Given the description of an element on the screen output the (x, y) to click on. 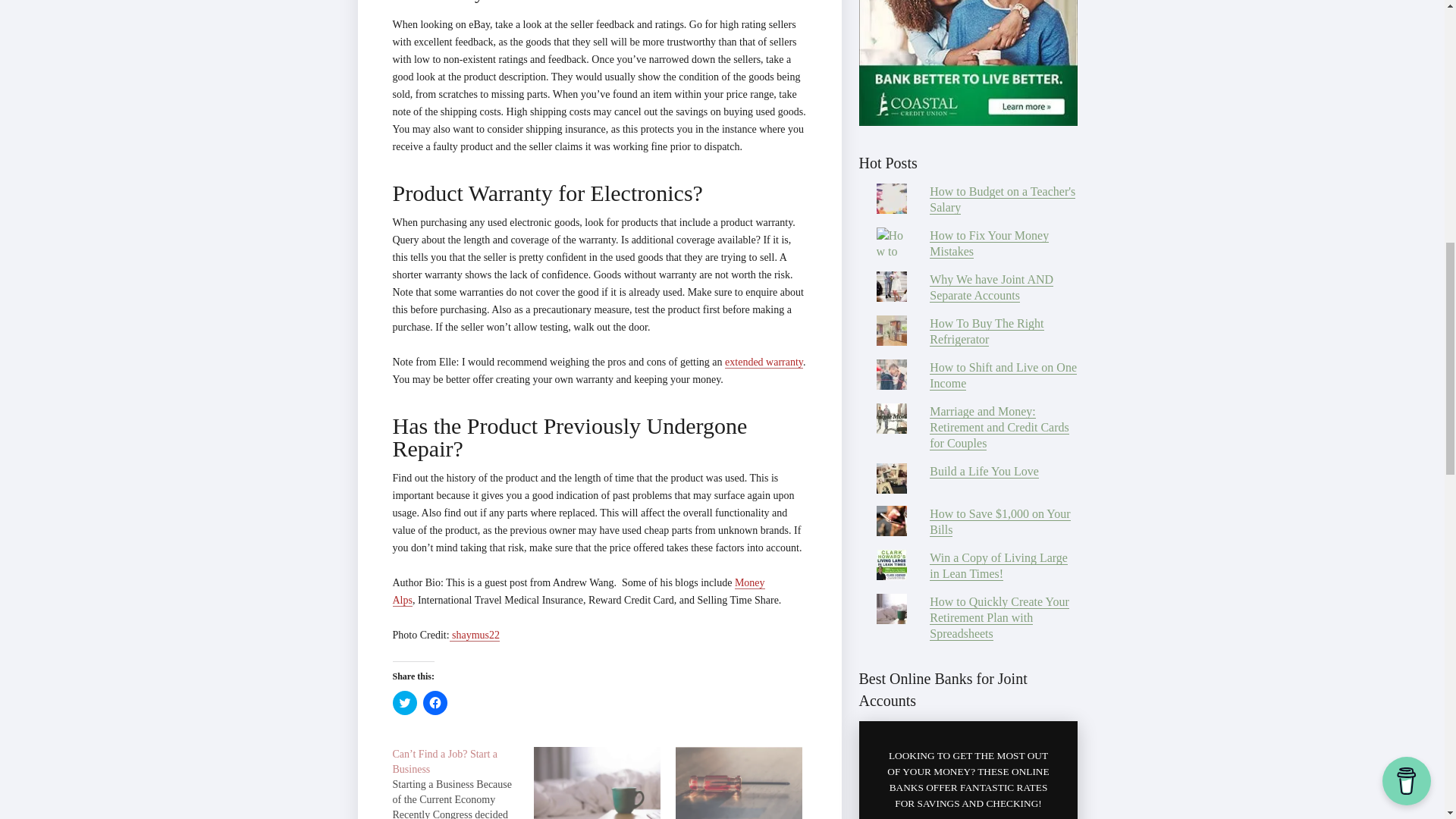
Click to share on Twitter (404, 702)
Our Family Spending Plan: September 2015 (597, 782)
How to Fix Your Money Mistakes (989, 243)
extended warranty (764, 362)
extended warranty (764, 362)
shaymus22 (474, 635)
Money Alps (579, 591)
Click to share on Facebook (434, 702)
How to Budget on a Teacher's Salary (1002, 199)
Why We have Joint AND Separate Accounts (991, 287)
